Given the description of an element on the screen output the (x, y) to click on. 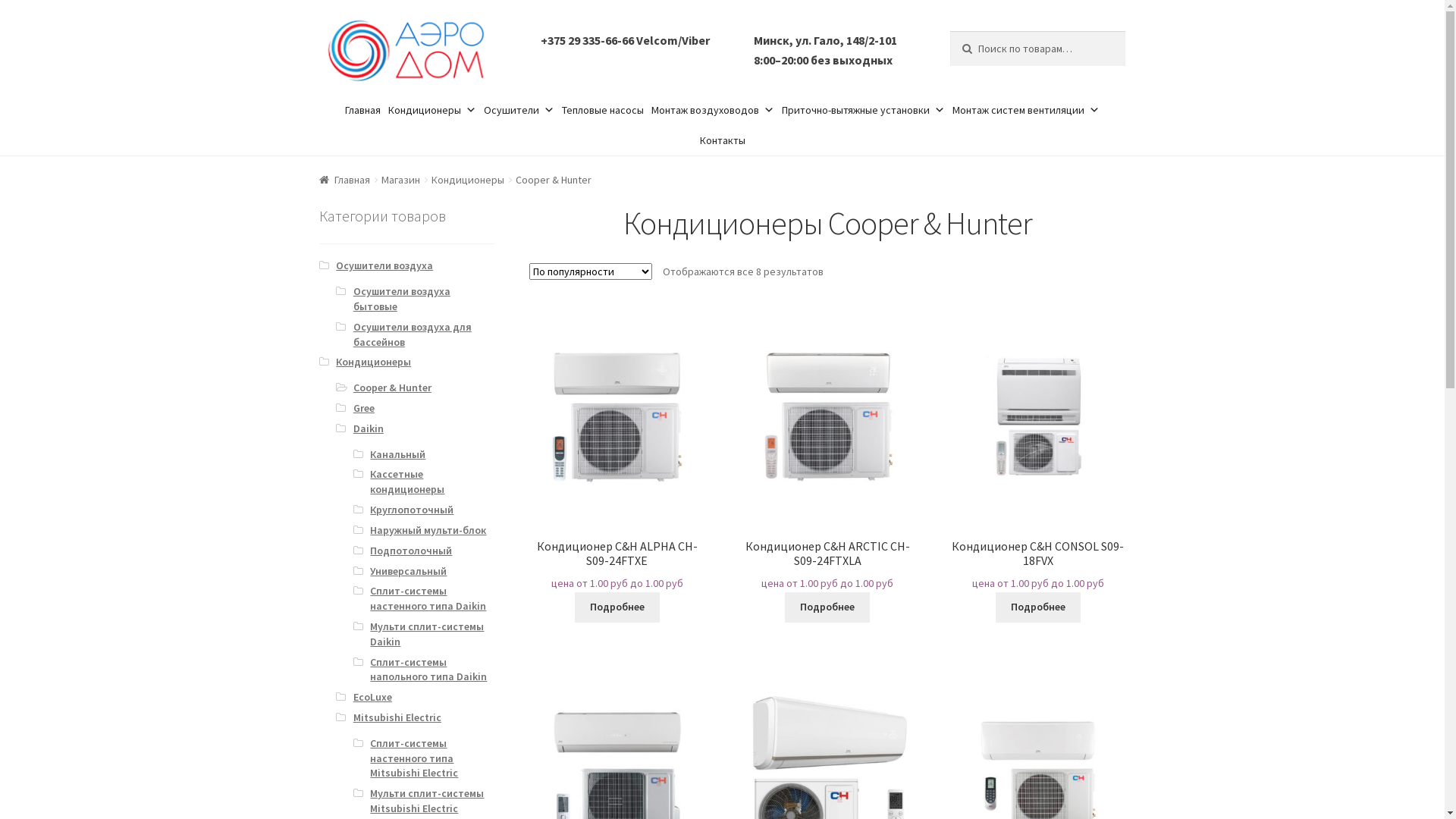
Daikin Element type: text (368, 428)
Cooper & Hunter Element type: text (392, 387)
Mitsubishi Electric Element type: text (397, 717)
Gree Element type: text (363, 407)
EcoLuxe Element type: text (372, 696)
